Given the description of an element on the screen output the (x, y) to click on. 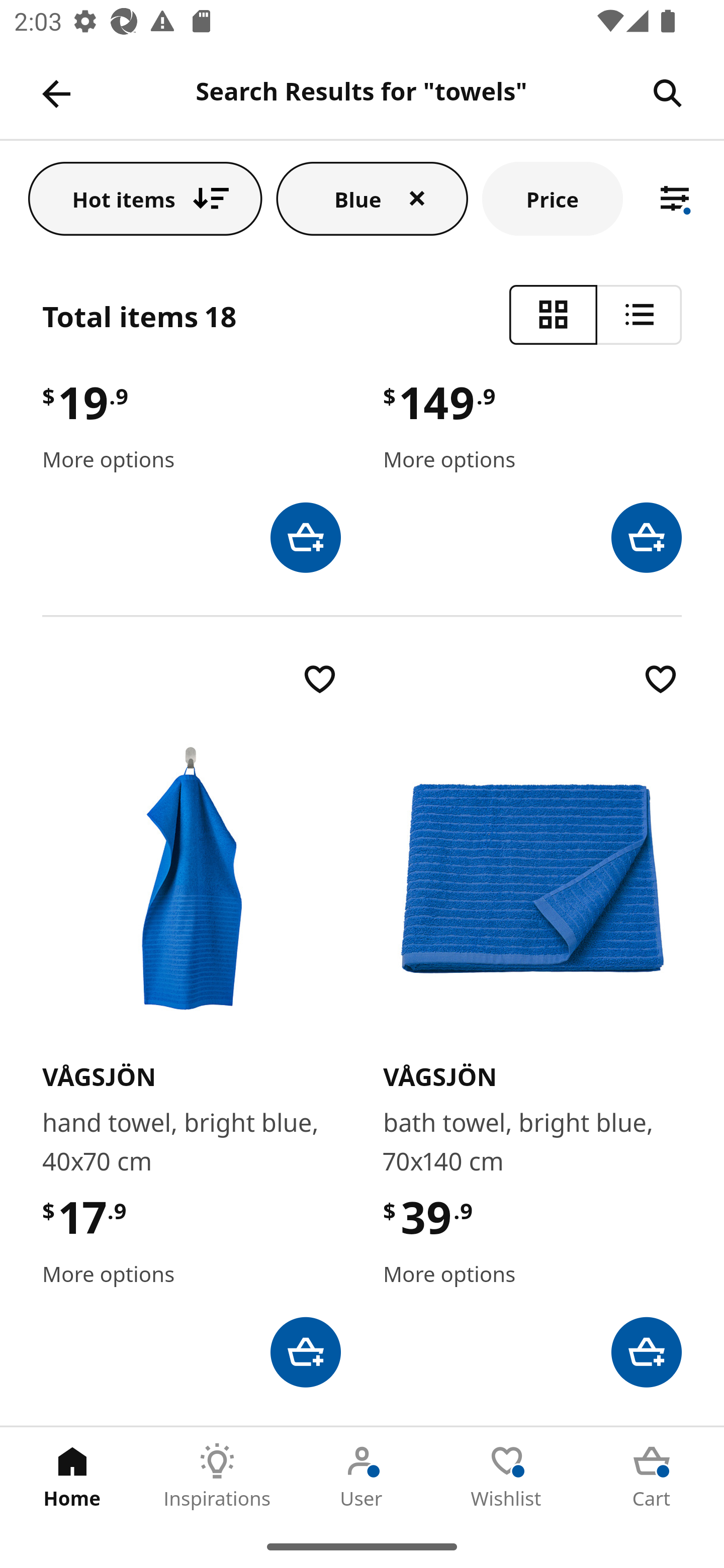
Hot items (145, 198)
Blue (372, 198)
Price (552, 198)
Home
Tab 1 of 5 (72, 1476)
Inspirations
Tab 2 of 5 (216, 1476)
User
Tab 3 of 5 (361, 1476)
Wishlist
Tab 4 of 5 (506, 1476)
Cart
Tab 5 of 5 (651, 1476)
